Given the description of an element on the screen output the (x, y) to click on. 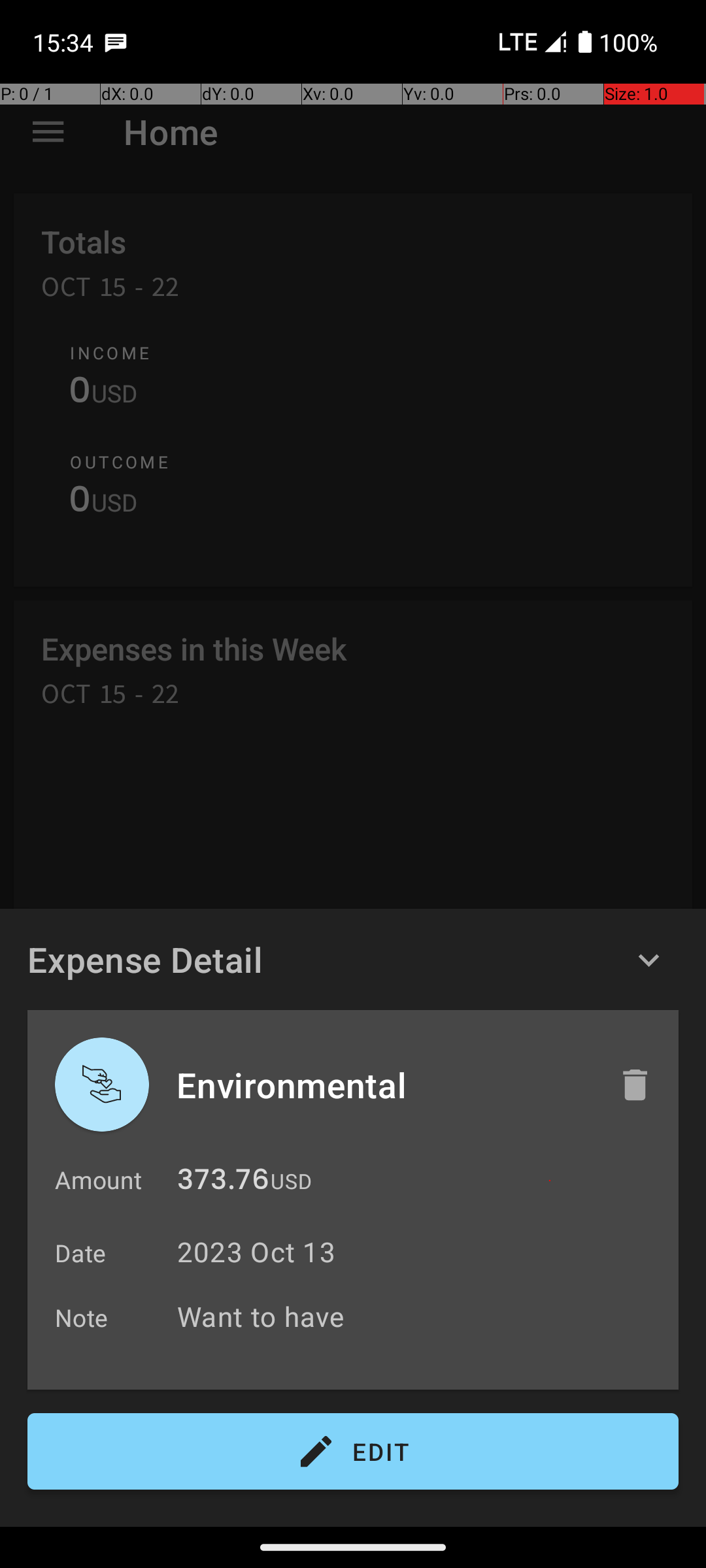
Environmental Element type: android.widget.TextView (383, 1084)
373.76 Element type: android.widget.TextView (222, 1182)
